Given the description of an element on the screen output the (x, y) to click on. 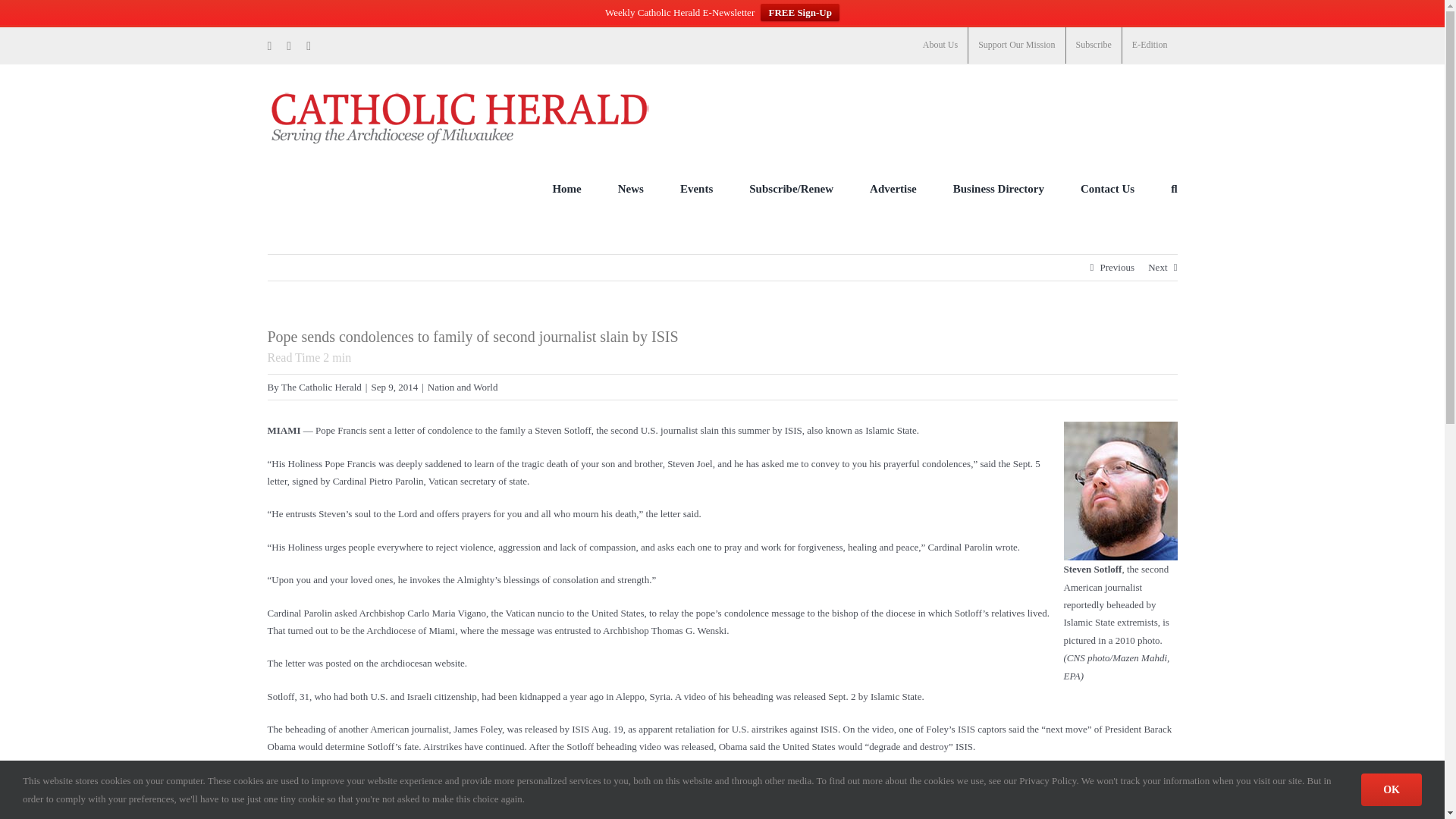
Advertise (893, 188)
About Us (940, 45)
E-Edition (1149, 45)
FREE Sign-Up (799, 12)
Business Directory (998, 188)
Posts by The Catholic Herald (321, 387)
Subscribe (1093, 45)
Support Our Mission (1016, 45)
Contact Us (1107, 188)
